Given the description of an element on the screen output the (x, y) to click on. 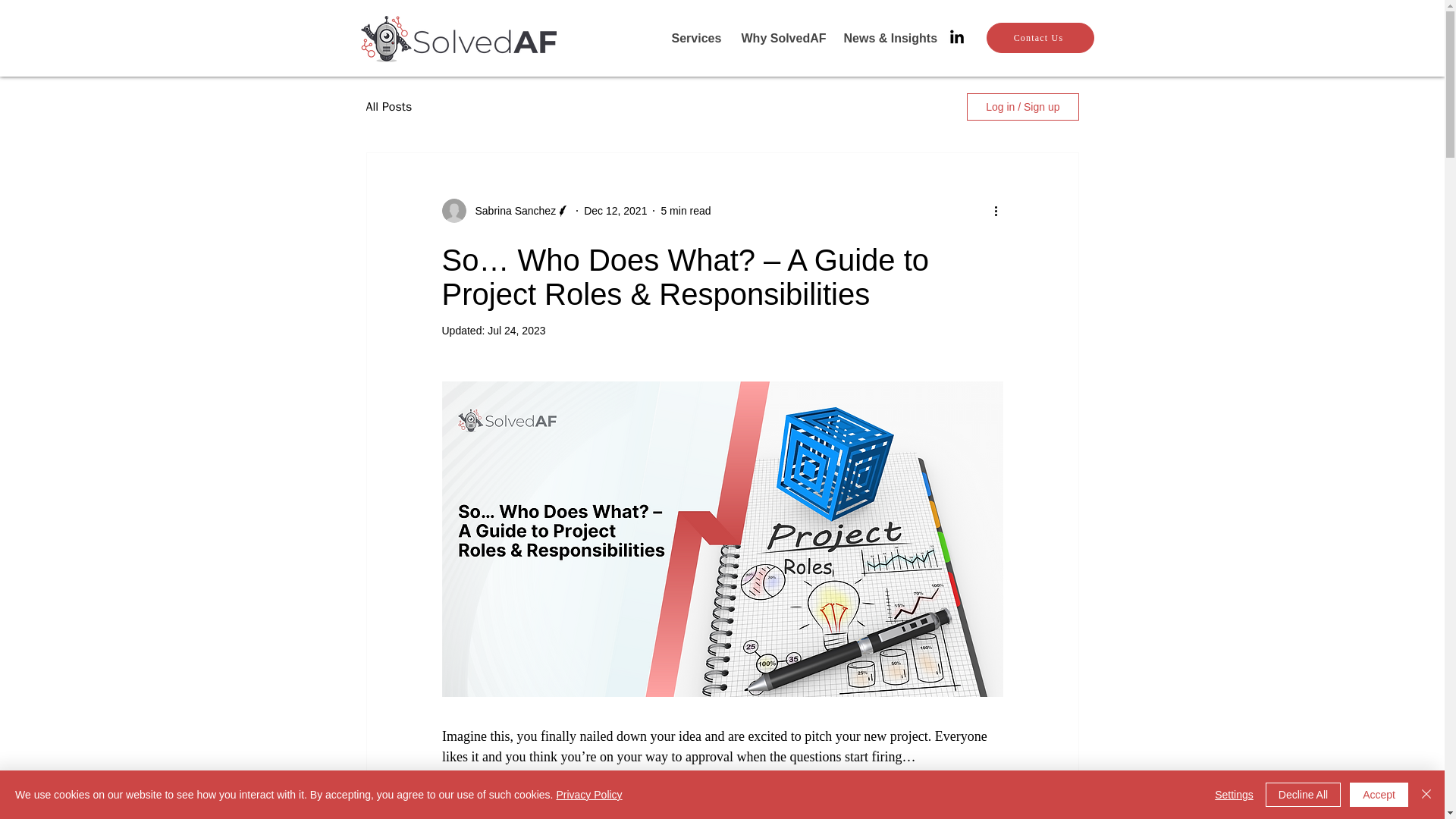
Accept (1378, 794)
5 min read (685, 210)
All Posts (388, 106)
Decline All (1302, 794)
Privacy Policy (588, 794)
Why SolvedAF (780, 38)
Contact Us (1039, 37)
Jul 24, 2023 (515, 330)
Sabrina Sanchez (510, 211)
Dec 12, 2021 (614, 210)
